Given the description of an element on the screen output the (x, y) to click on. 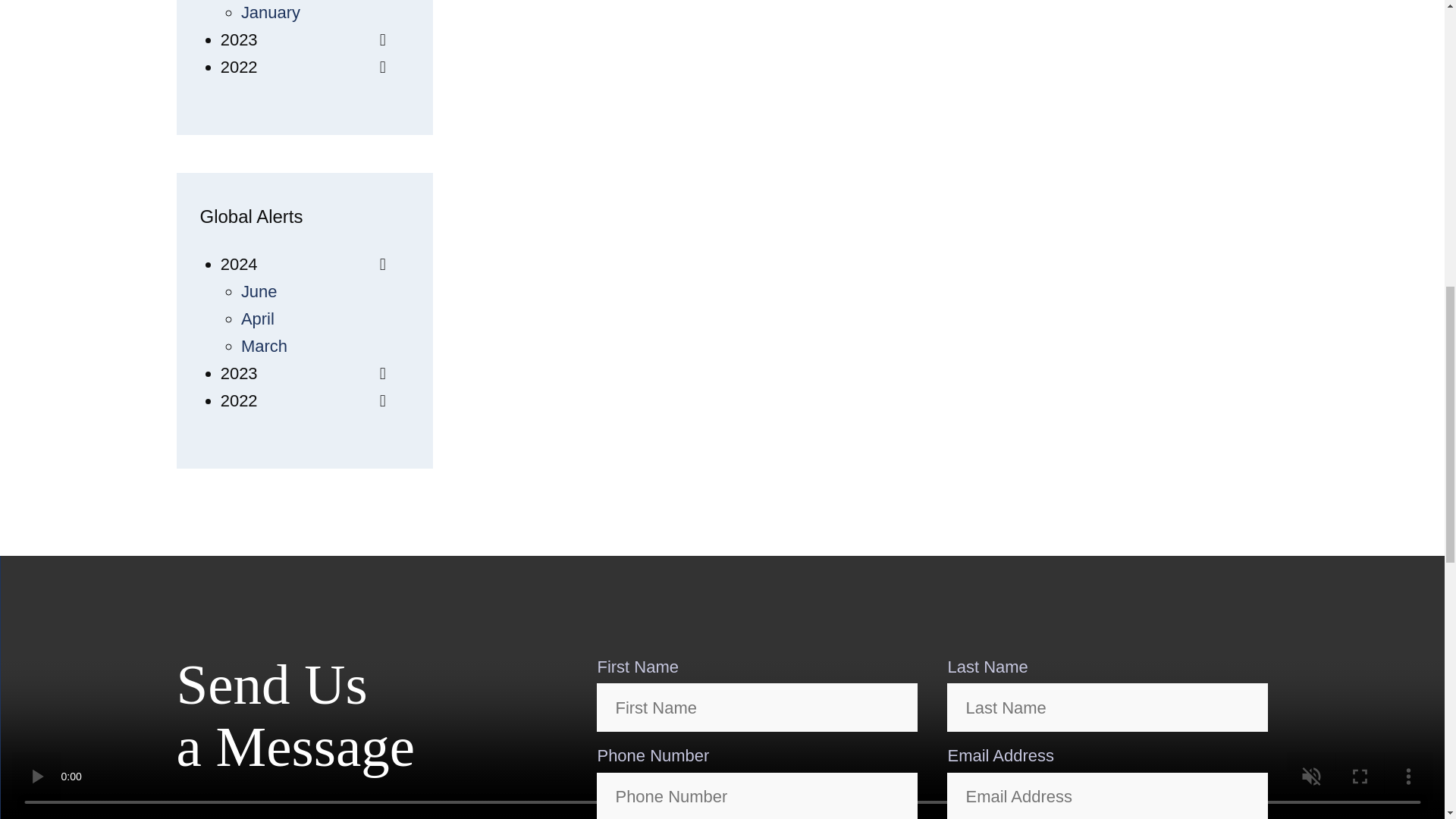
January (270, 12)
